Given the description of an element on the screen output the (x, y) to click on. 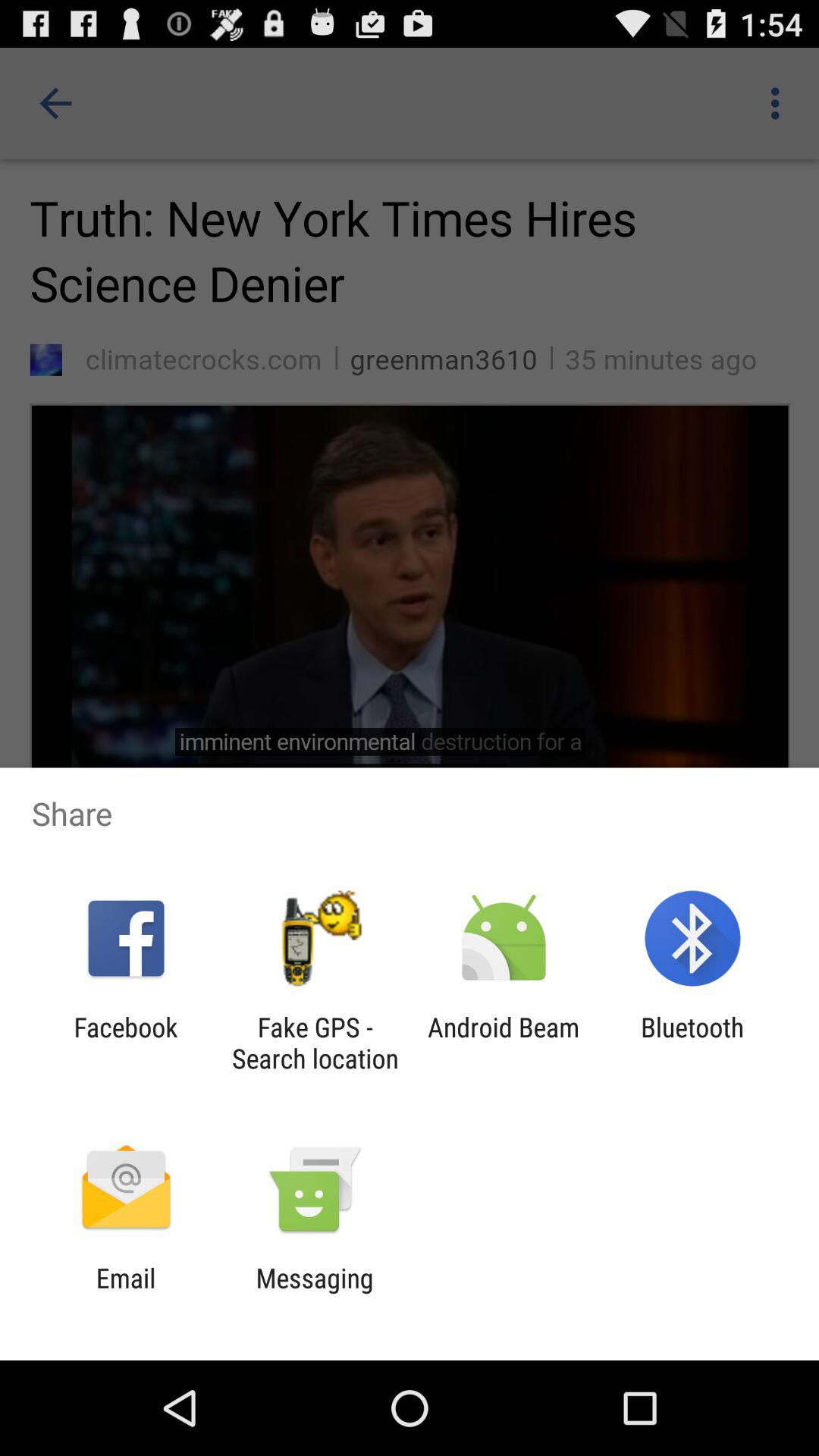
turn on app to the right of the email (314, 1293)
